Given the description of an element on the screen output the (x, y) to click on. 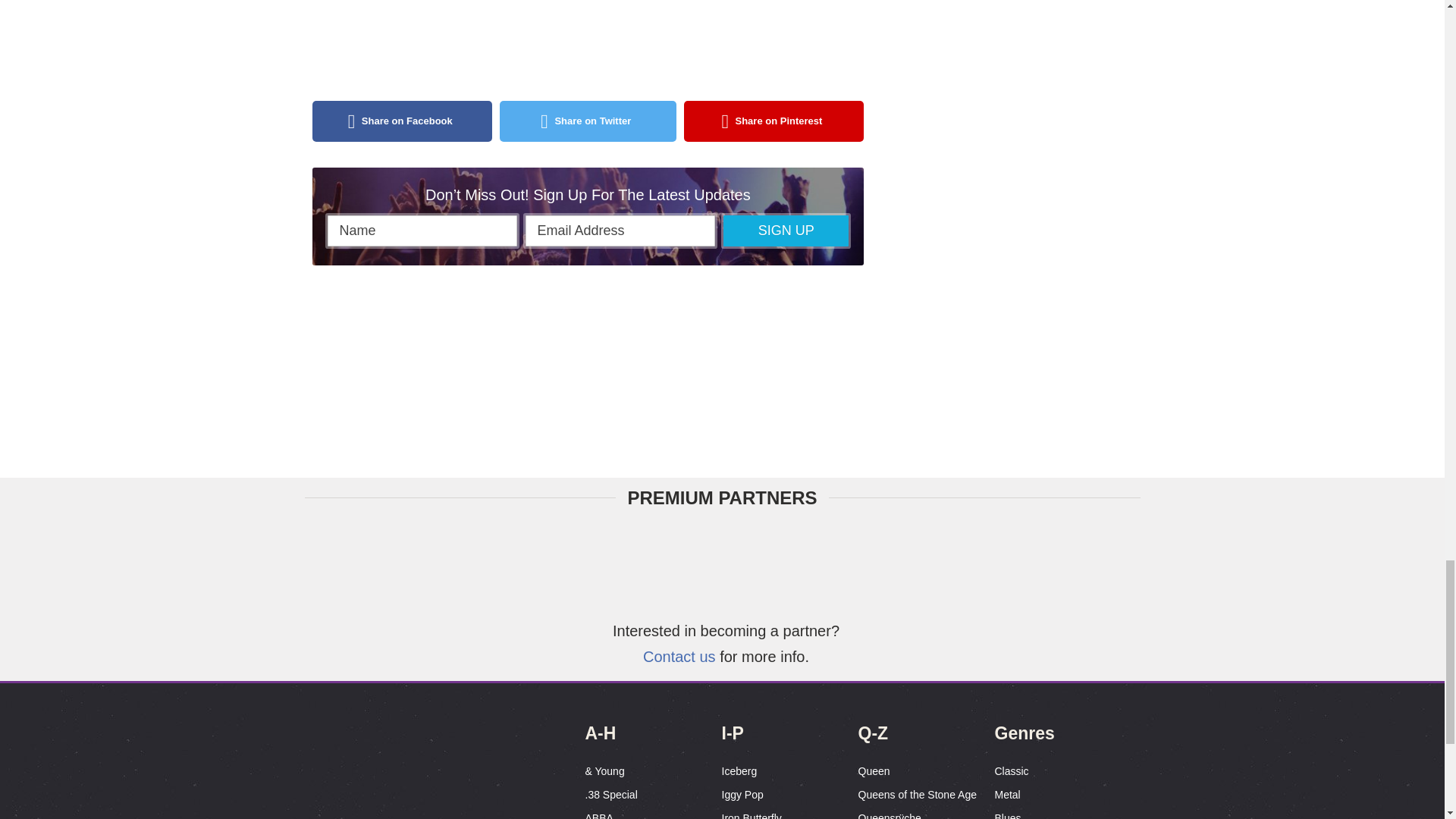
Sign Up (785, 230)
Share on Pinterest (774, 120)
